Given the description of an element on the screen output the (x, y) to click on. 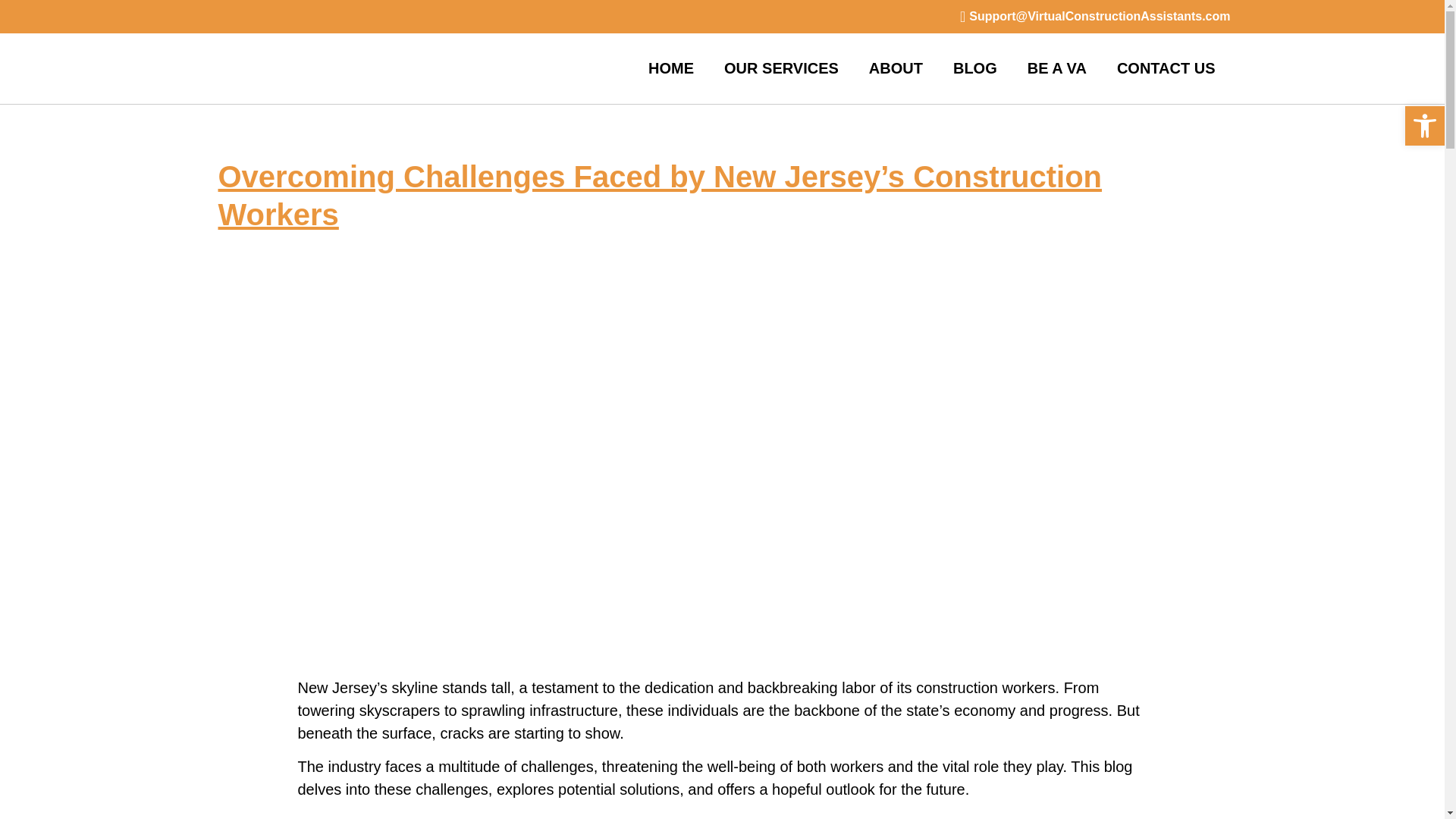
CONTACT US (1166, 67)
BE A VA (1056, 67)
Accessibility Tools (1424, 125)
OUR SERVICES (781, 67)
ABOUT (895, 67)
HOME (671, 67)
BLOG (974, 67)
